Given the description of an element on the screen output the (x, y) to click on. 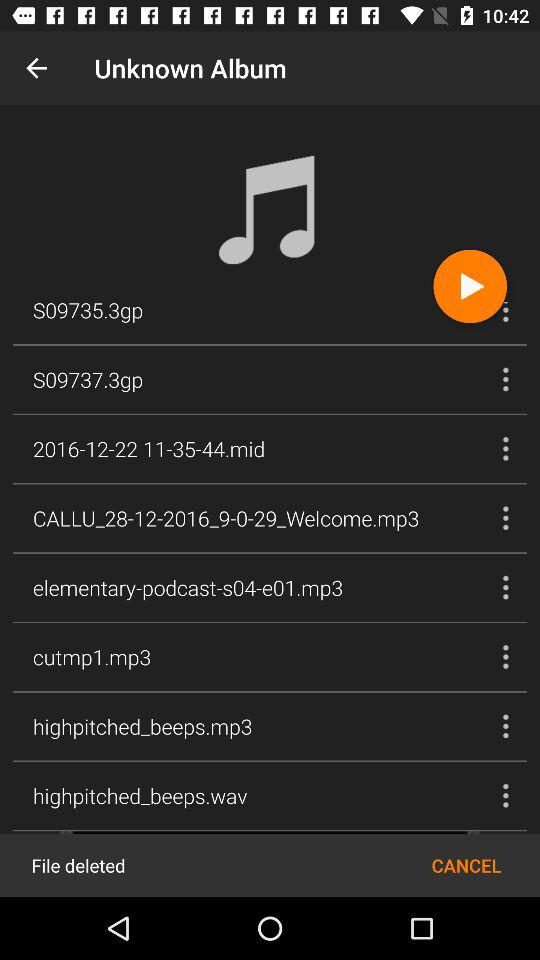
jump to the callu_28 12 2016_9 (226, 517)
